Given the description of an element on the screen output the (x, y) to click on. 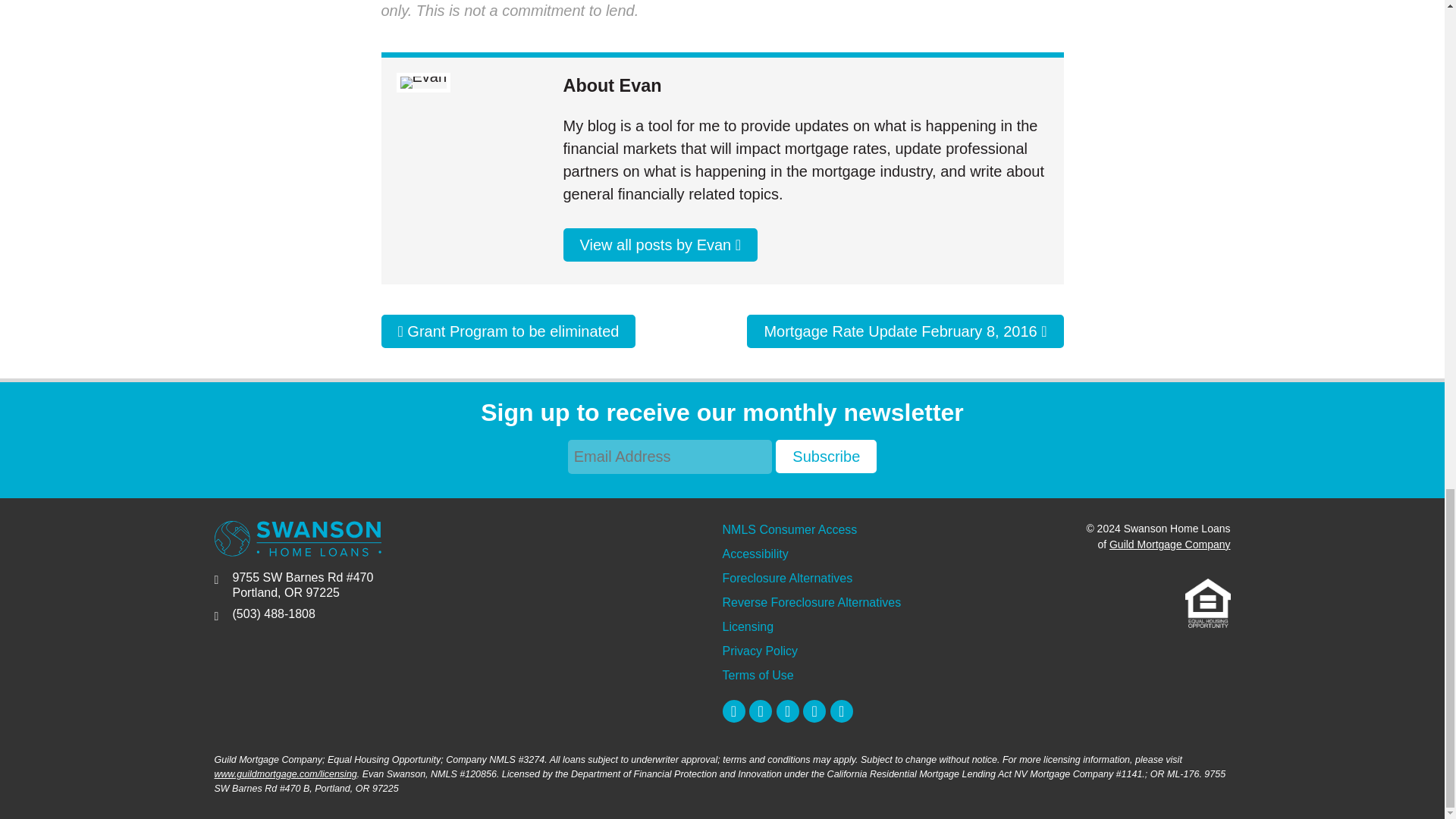
Grant Program to be eliminated (507, 331)
View all posts by Evan (659, 244)
Subscribe (826, 456)
